Given the description of an element on the screen output the (x, y) to click on. 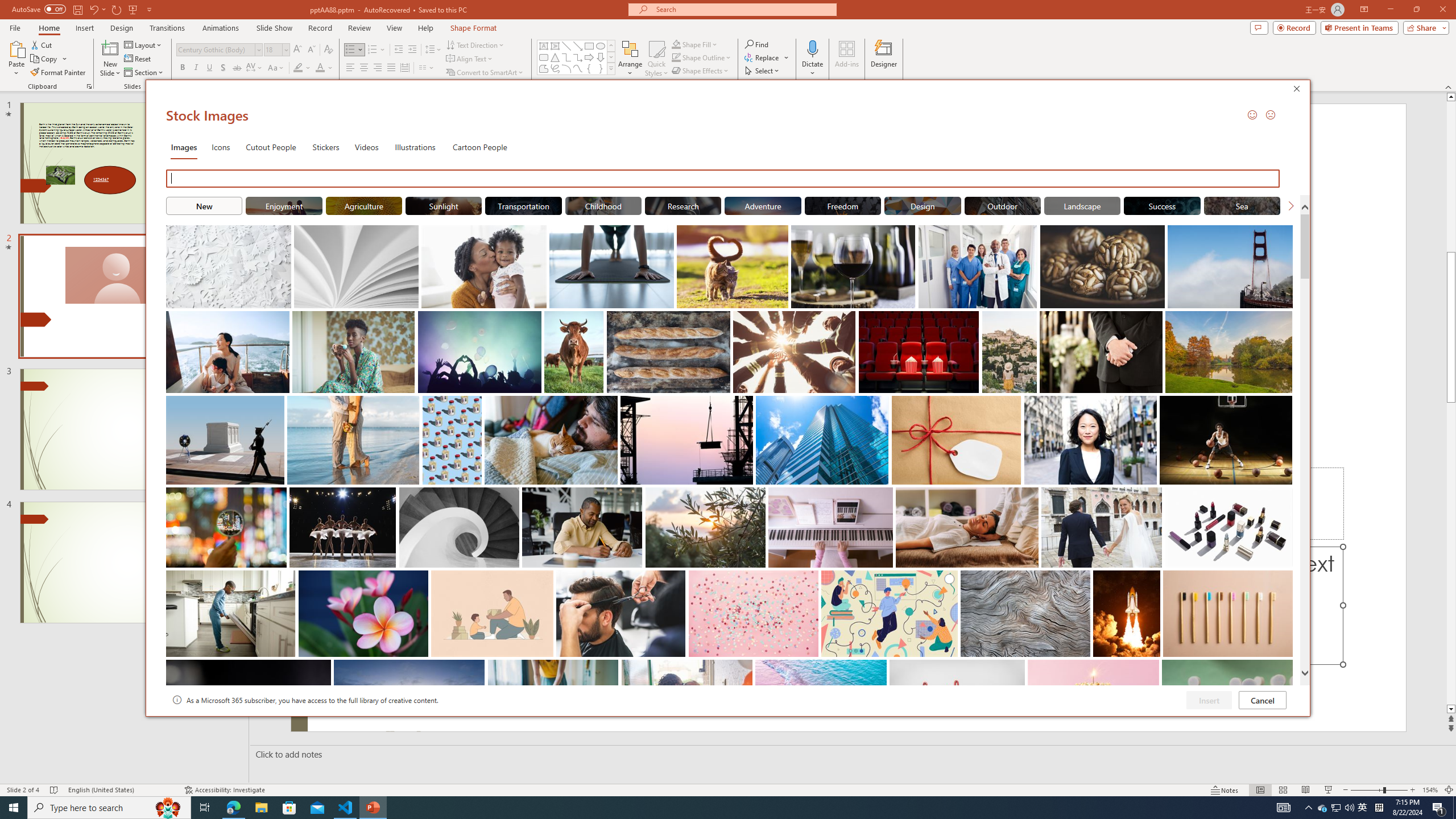
"Landscape" Stock Images. (1082, 205)
Thumbnail (1283, 668)
